Given the description of an element on the screen output the (x, y) to click on. 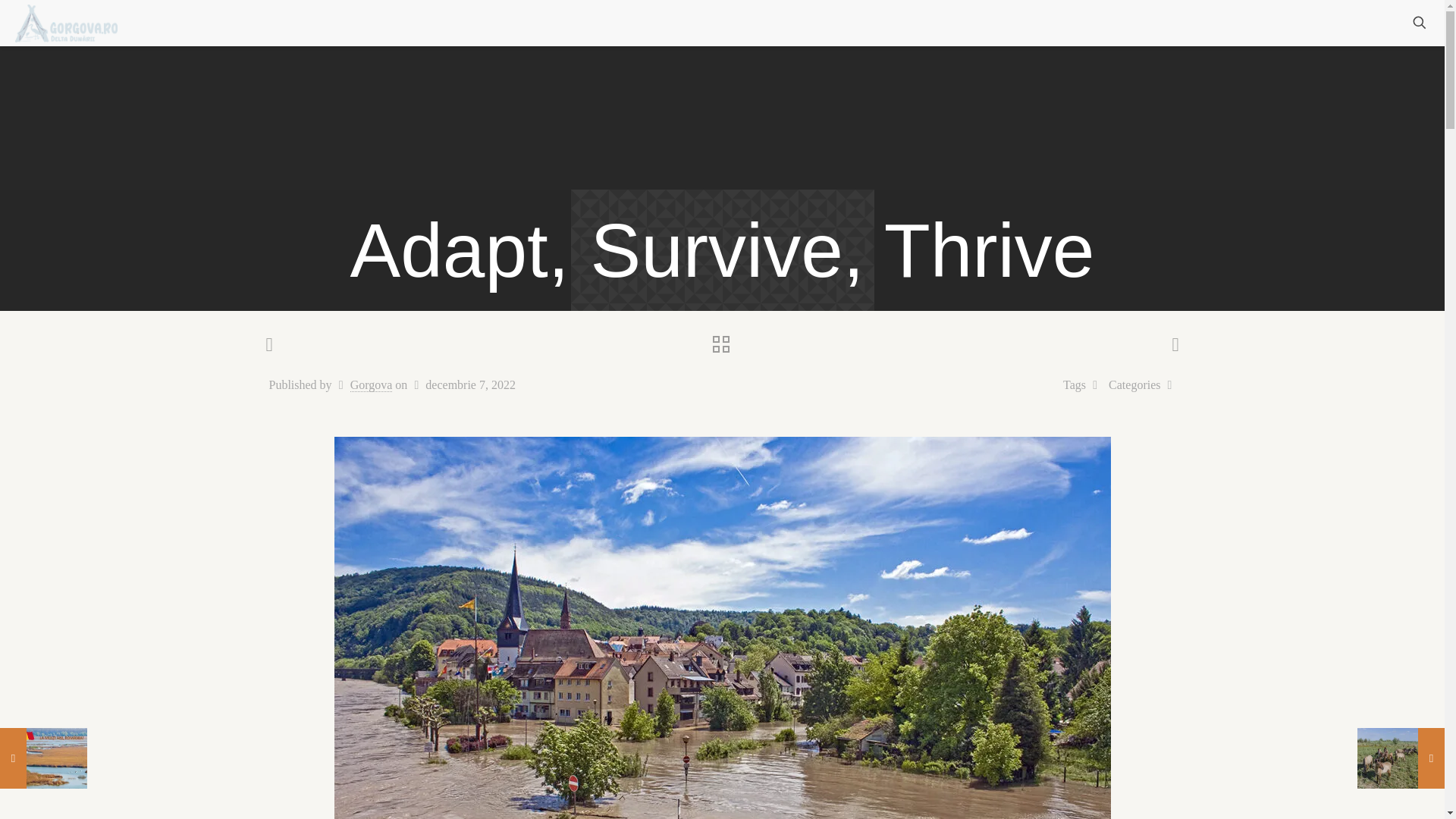
Cazare (1047, 22)
Home (984, 22)
Gorgova (371, 385)
Contact (1355, 22)
Excursii Delta Dunarii (1151, 22)
Gorgova Blog (1271, 22)
